Given the description of an element on the screen output the (x, y) to click on. 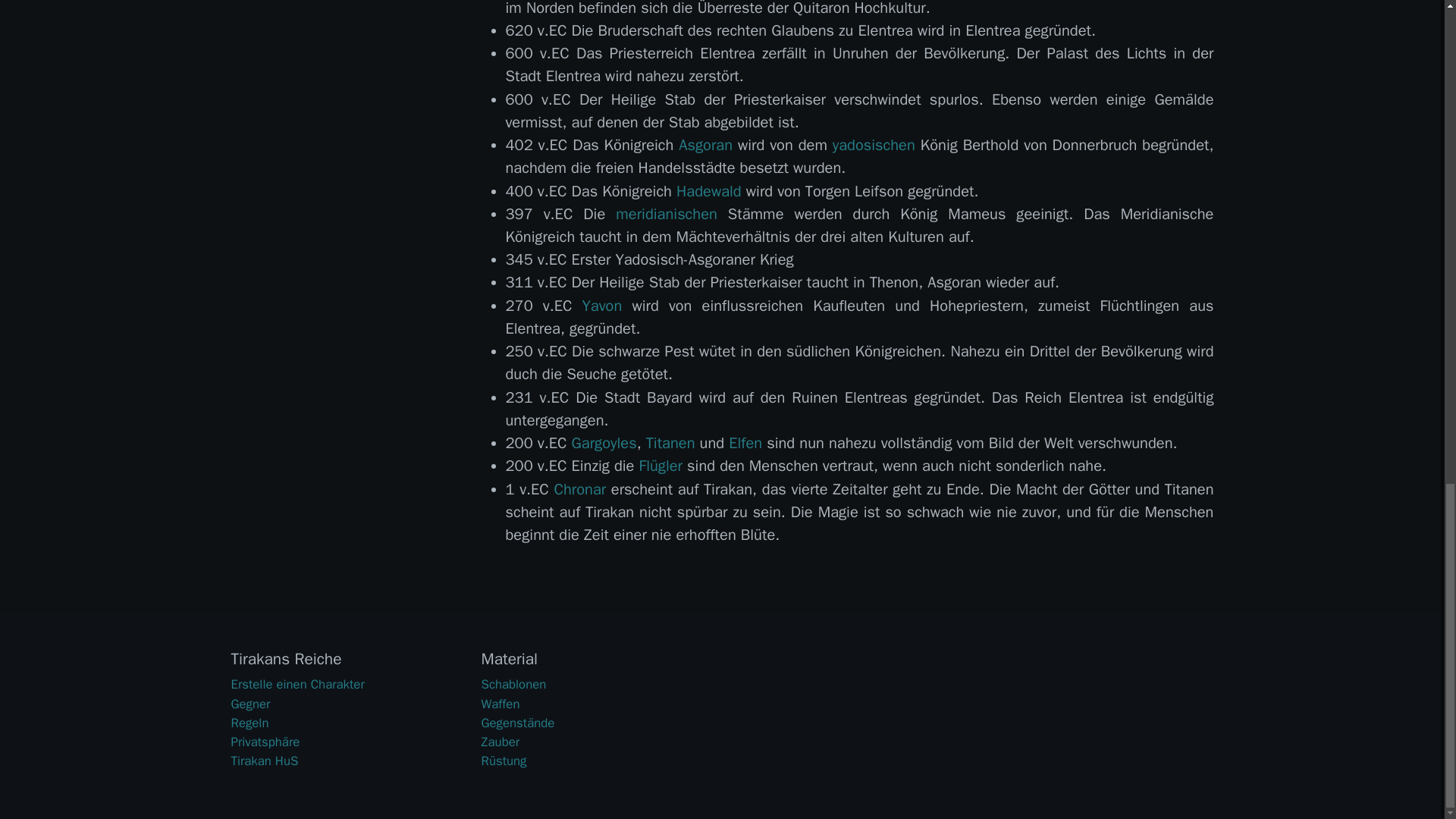
Asgoran (705, 144)
